Given the description of an element on the screen output the (x, y) to click on. 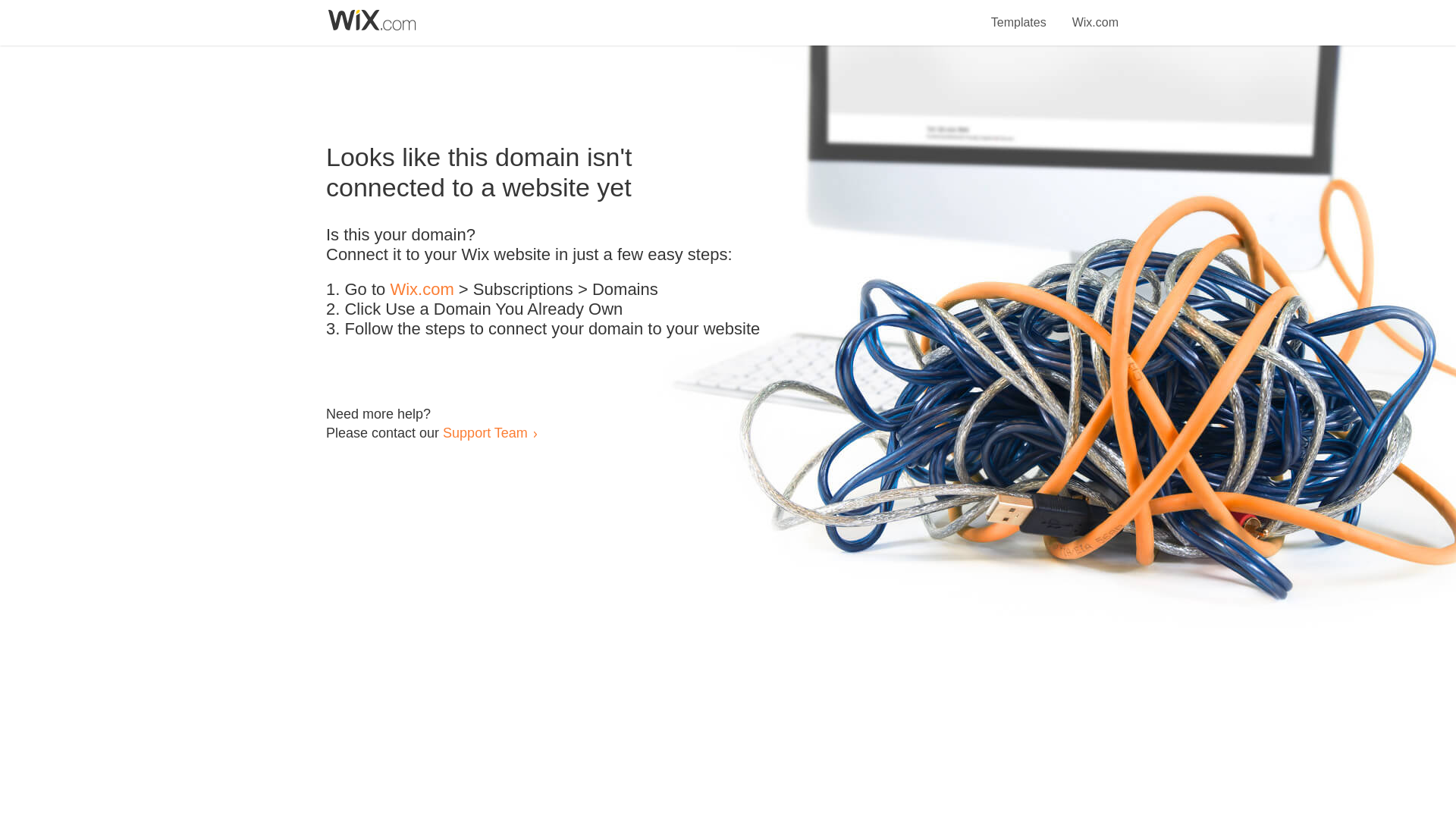
Wix.com (1095, 14)
Support Team (484, 432)
Templates (1018, 14)
Wix.com (421, 289)
